Given the description of an element on the screen output the (x, y) to click on. 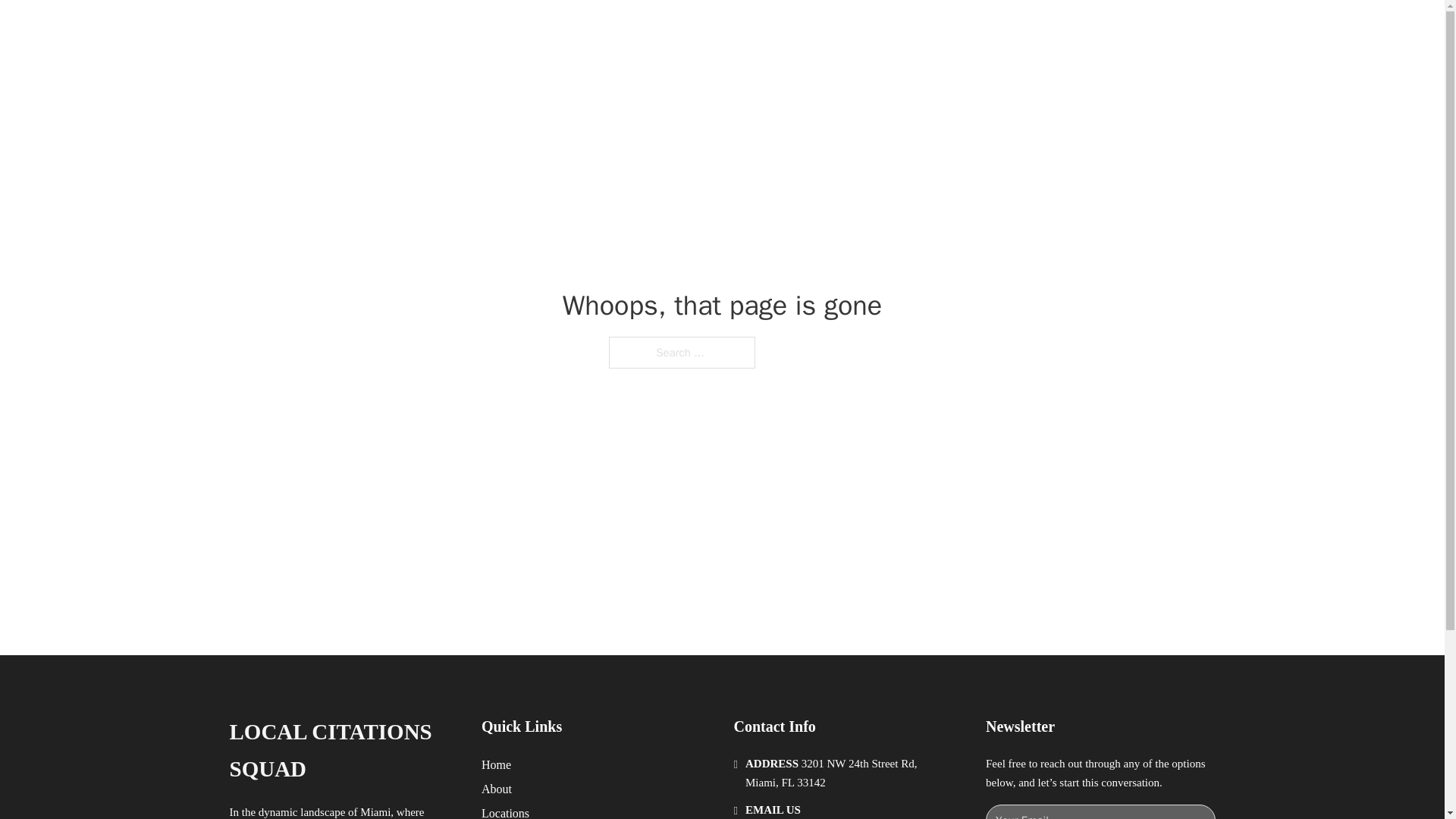
LOCATIONS (978, 29)
Home (496, 764)
LOCAL CITATION SQUAD (428, 28)
LOCAL CITATIONS SQUAD (343, 750)
HOME (907, 29)
Locations (505, 811)
About (496, 788)
